Given the description of an element on the screen output the (x, y) to click on. 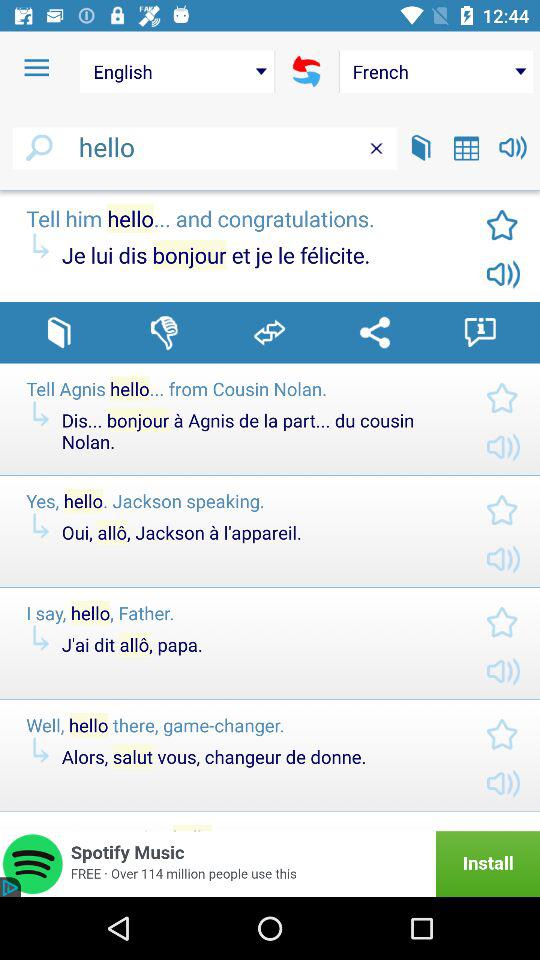
got to more information about language (480, 332)
